Given the description of an element on the screen output the (x, y) to click on. 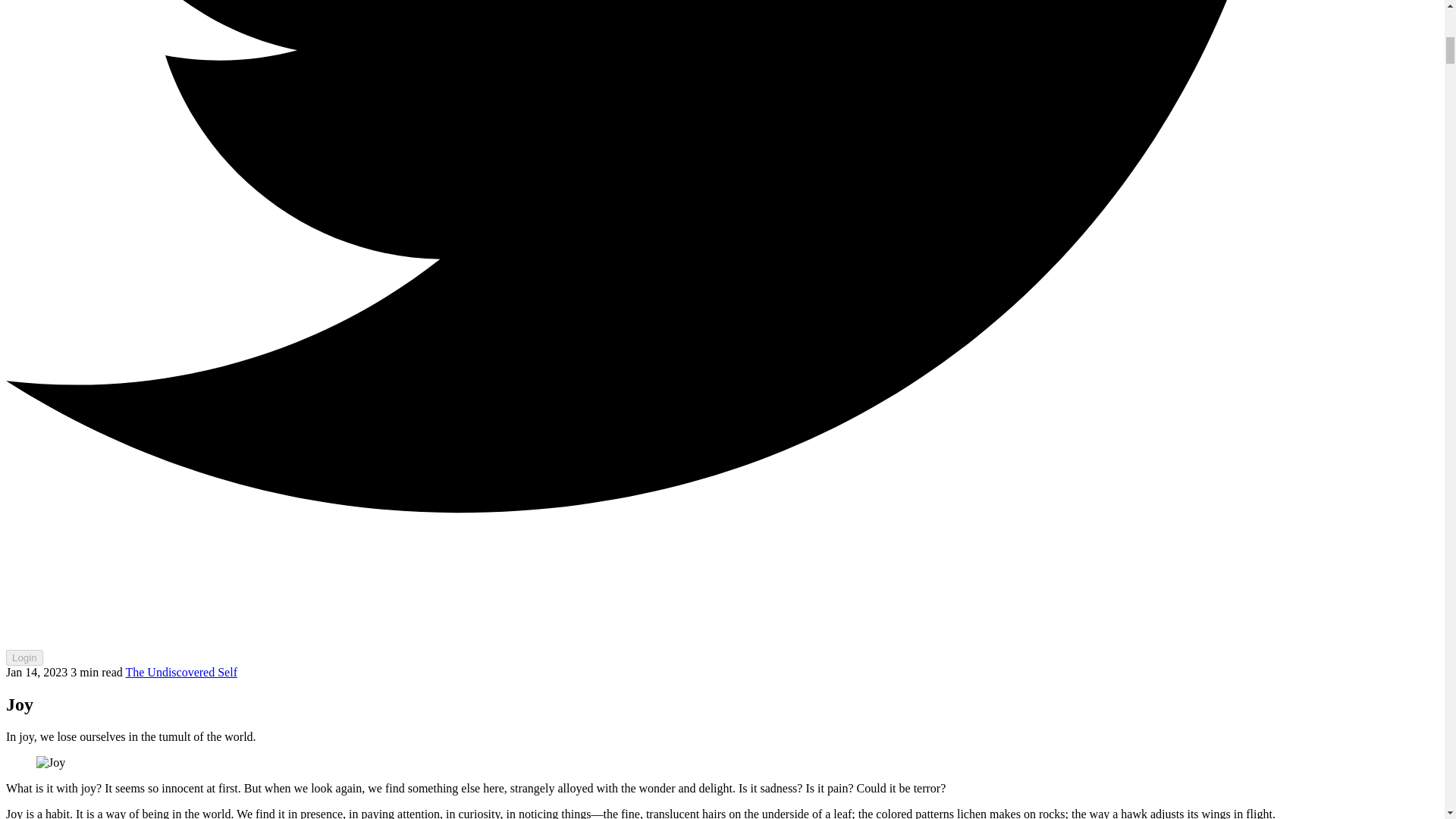
The Undiscovered Self (181, 671)
Login (24, 657)
